Given the description of an element on the screen output the (x, y) to click on. 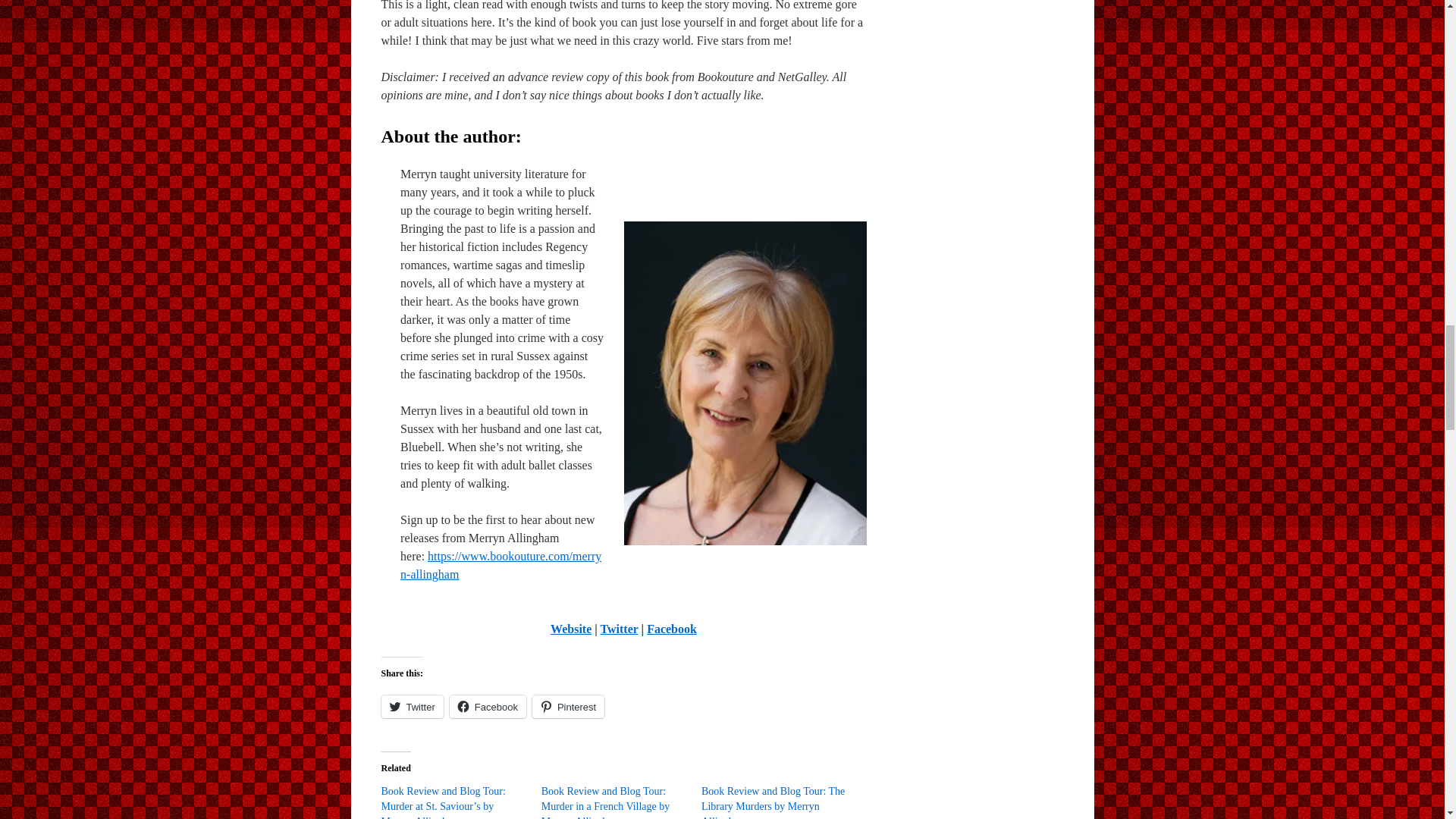
Click to share on Twitter (411, 706)
Twitter (411, 706)
Facebook (671, 628)
Facebook (487, 706)
Twitter (619, 628)
Click to share on Pinterest (568, 706)
Website (570, 628)
Pinterest (568, 706)
Click to share on Facebook (487, 706)
